Given the description of an element on the screen output the (x, y) to click on. 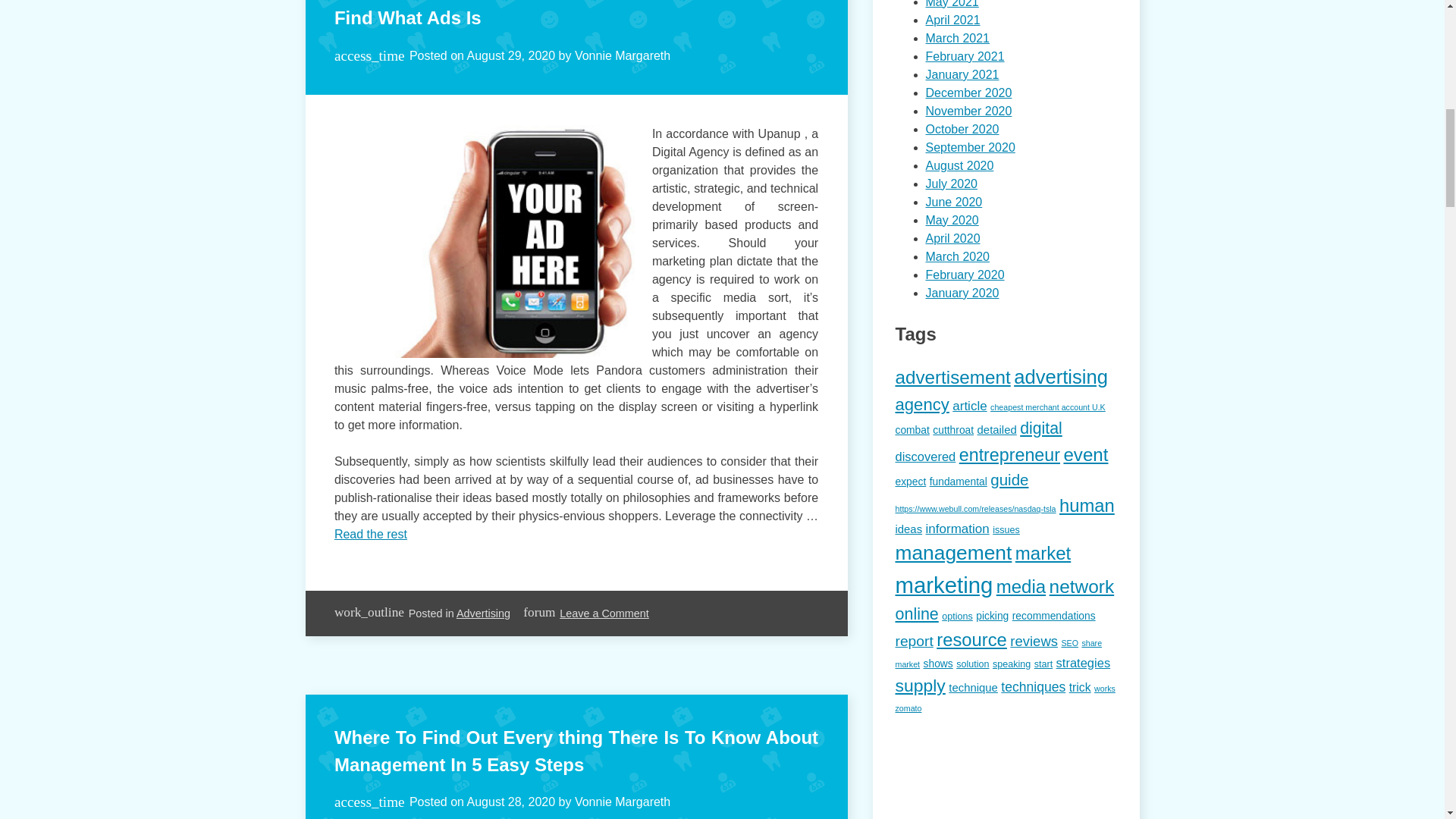
August 28, 2020 (511, 801)
Find What Ads Is (407, 17)
Advertising (484, 613)
Vonnie Margareth (622, 801)
August 29, 2020 (511, 55)
Read the rest (370, 533)
Vonnie Margareth (622, 55)
